Given the description of an element on the screen output the (x, y) to click on. 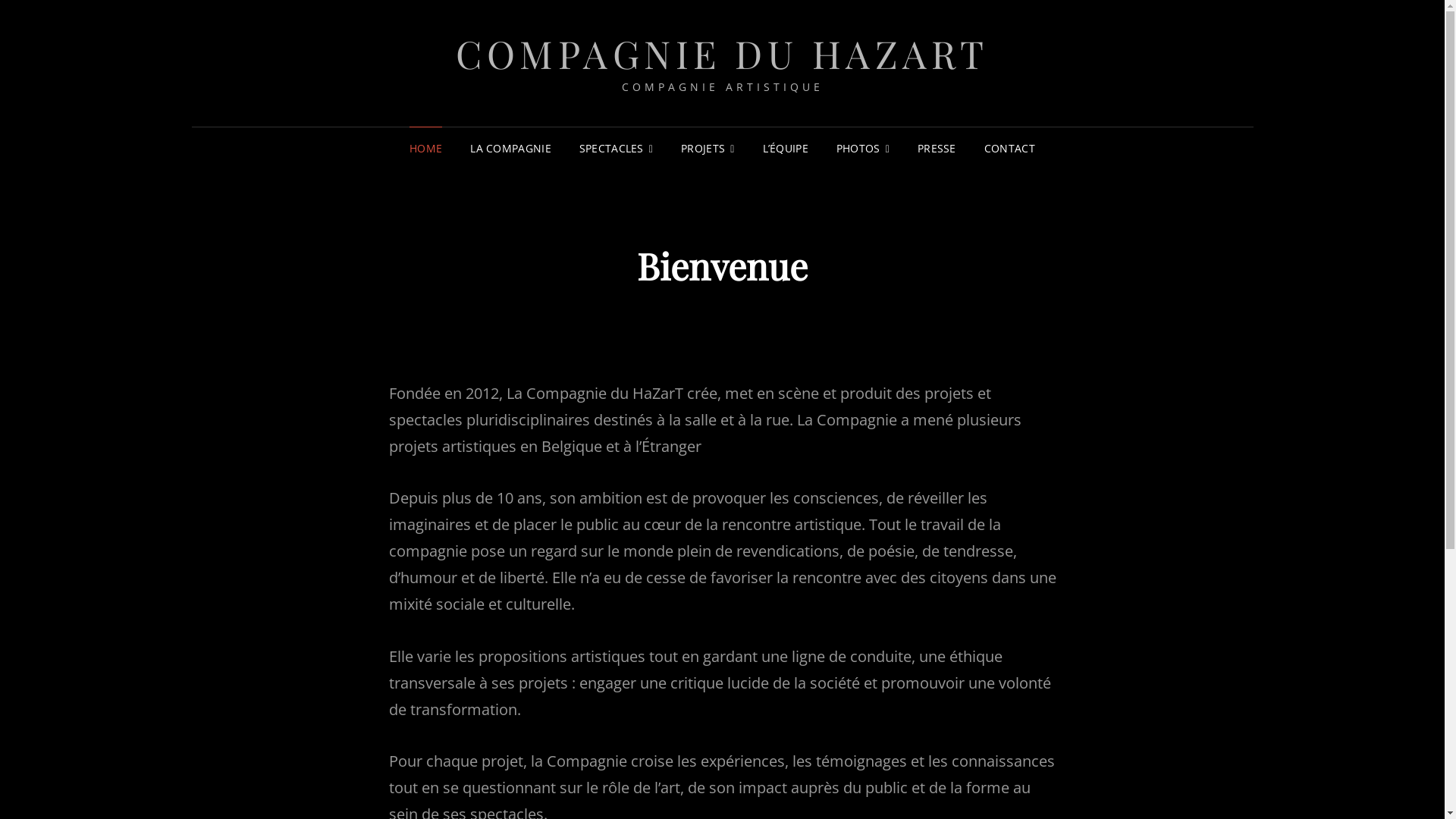
PHOTOS Element type: text (862, 148)
PROJETS Element type: text (707, 148)
HOME Element type: text (425, 148)
COMPAGNIE DU HAZART Element type: text (721, 53)
PRESSE Element type: text (936, 148)
CONTACT Element type: text (1009, 148)
LA COMPAGNIE Element type: text (510, 148)
SPECTACLES Element type: text (616, 148)
